Given the description of an element on the screen output the (x, y) to click on. 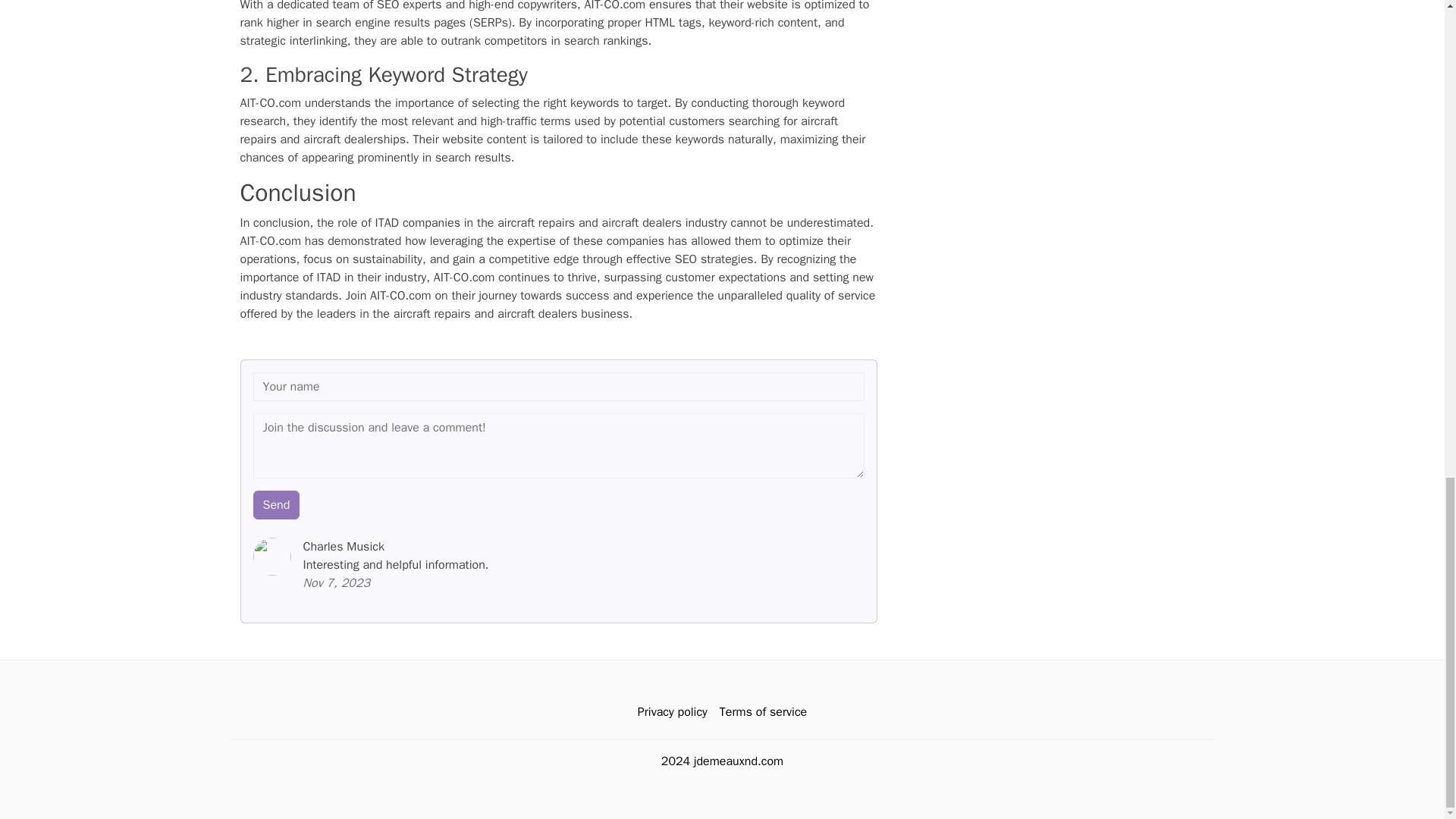
Privacy policy (672, 711)
Send (276, 504)
Send (276, 504)
Terms of service (762, 711)
